Given the description of an element on the screen output the (x, y) to click on. 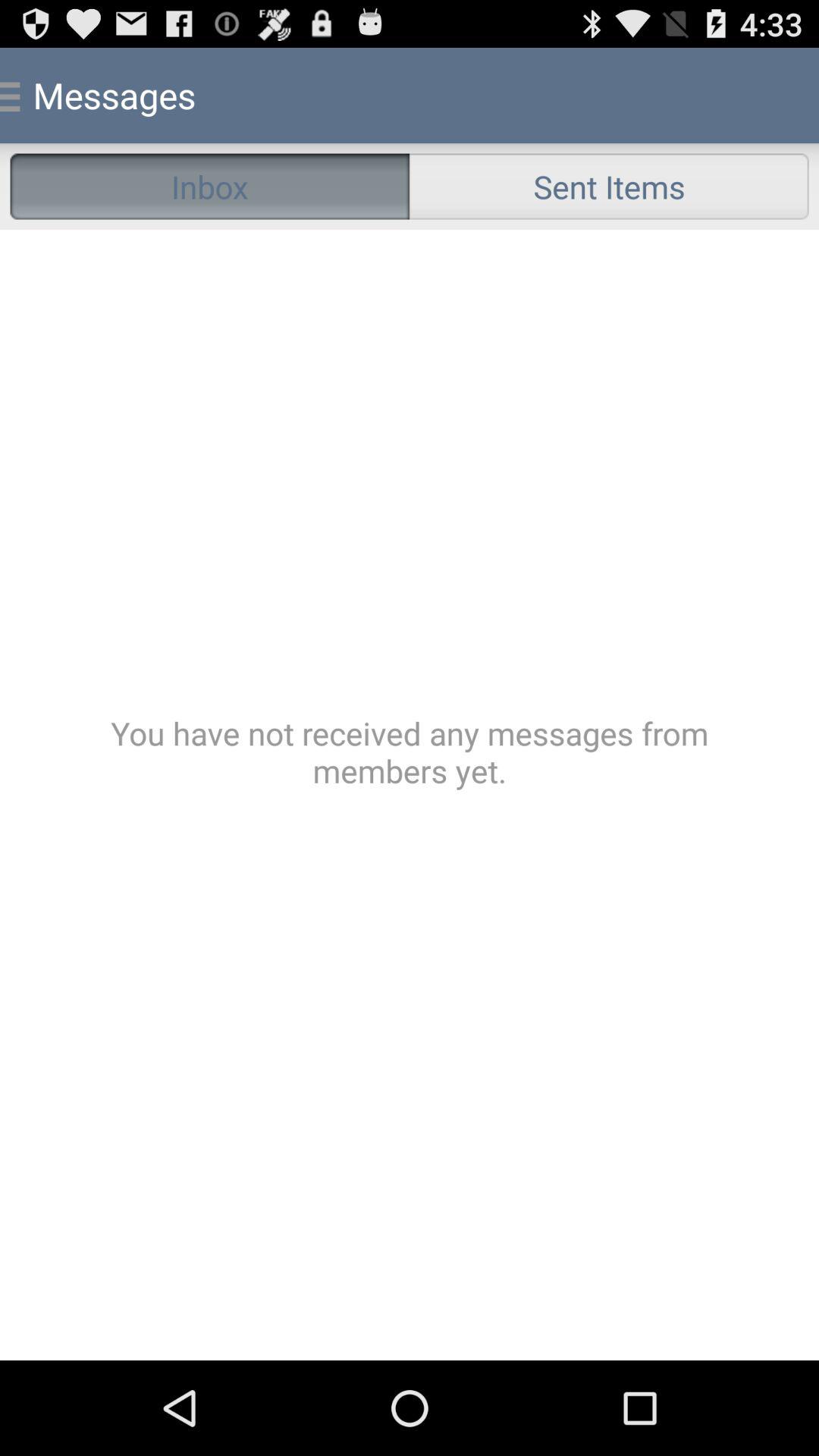
turn off the radio button to the right of the inbox radio button (608, 186)
